Given the description of an element on the screen output the (x, y) to click on. 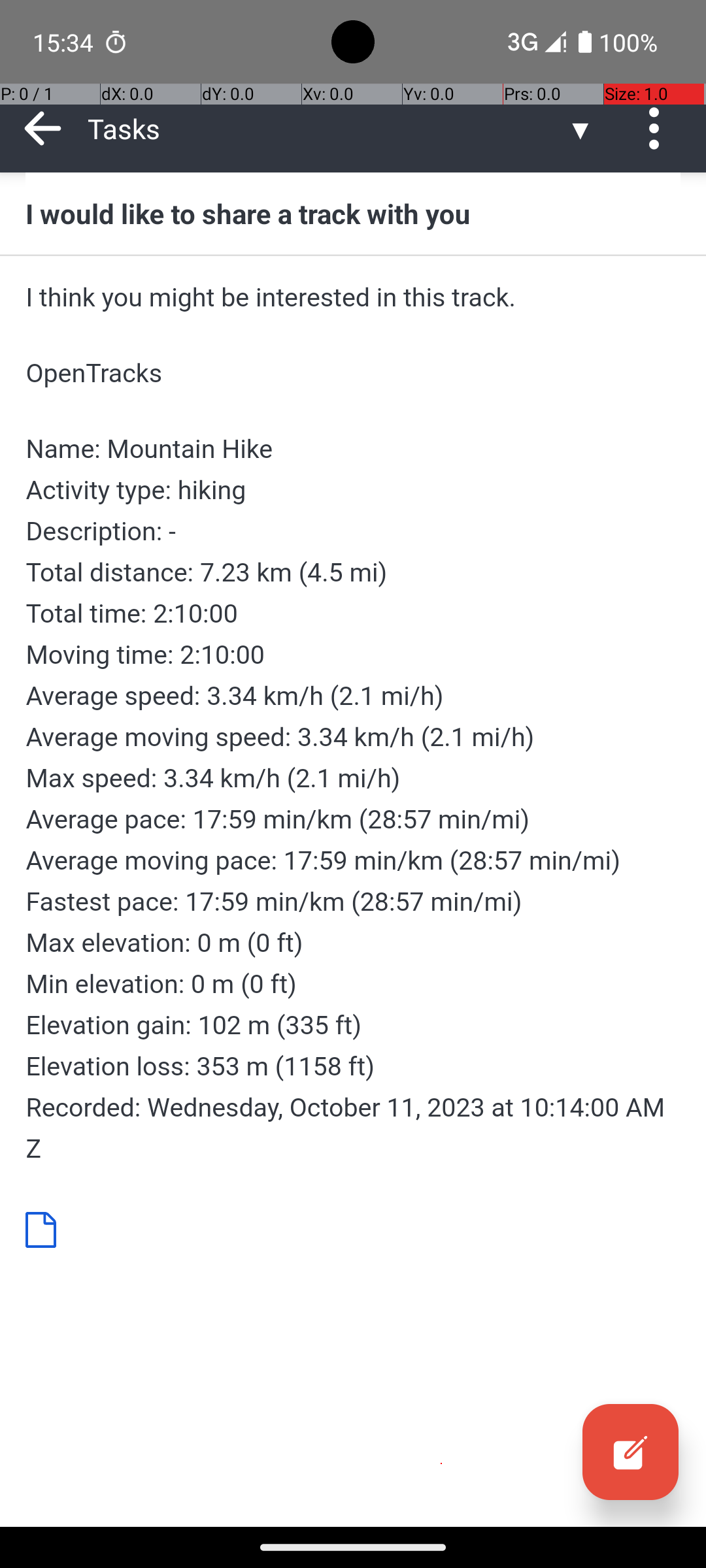
I would like to share a track with you Element type: android.widget.EditText (352, 213)
I think you might be interested in this track. Element type: android.widget.TextView (352, 296)
Name: Mountain Hike
Activity type: hiking
Description: -
Total distance: 7.23 km (4.5 mi)
Total time: 2:10:00
Moving time: 2:10:00
Average speed: 3.34 km/h (2.1 mi/h)
Average moving speed: 3.34 km/h (2.1 mi/h)
Max speed: 3.34 km/h (2.1 mi/h)
Average pace: 17:59 min/km (28:57 min/mi)
Average moving pace: 17:59 min/km (28:57 min/mi)
Fastest pace: 17:59 min/km (28:57 min/mi)
Max elevation: 0 m (0 ft)
Min elevation: 0 m (0 ft)
Elevation gain: 102 m (335 ft)
Elevation loss: 353 m (1158 ft)
Recorded: Wednesday, October 11, 2023 at 10:14:00 AM Z Element type: android.widget.TextView (352, 798)
NoteBodyViewer Element type: android.view.View (45, 1228)
